Given the description of an element on the screen output the (x, y) to click on. 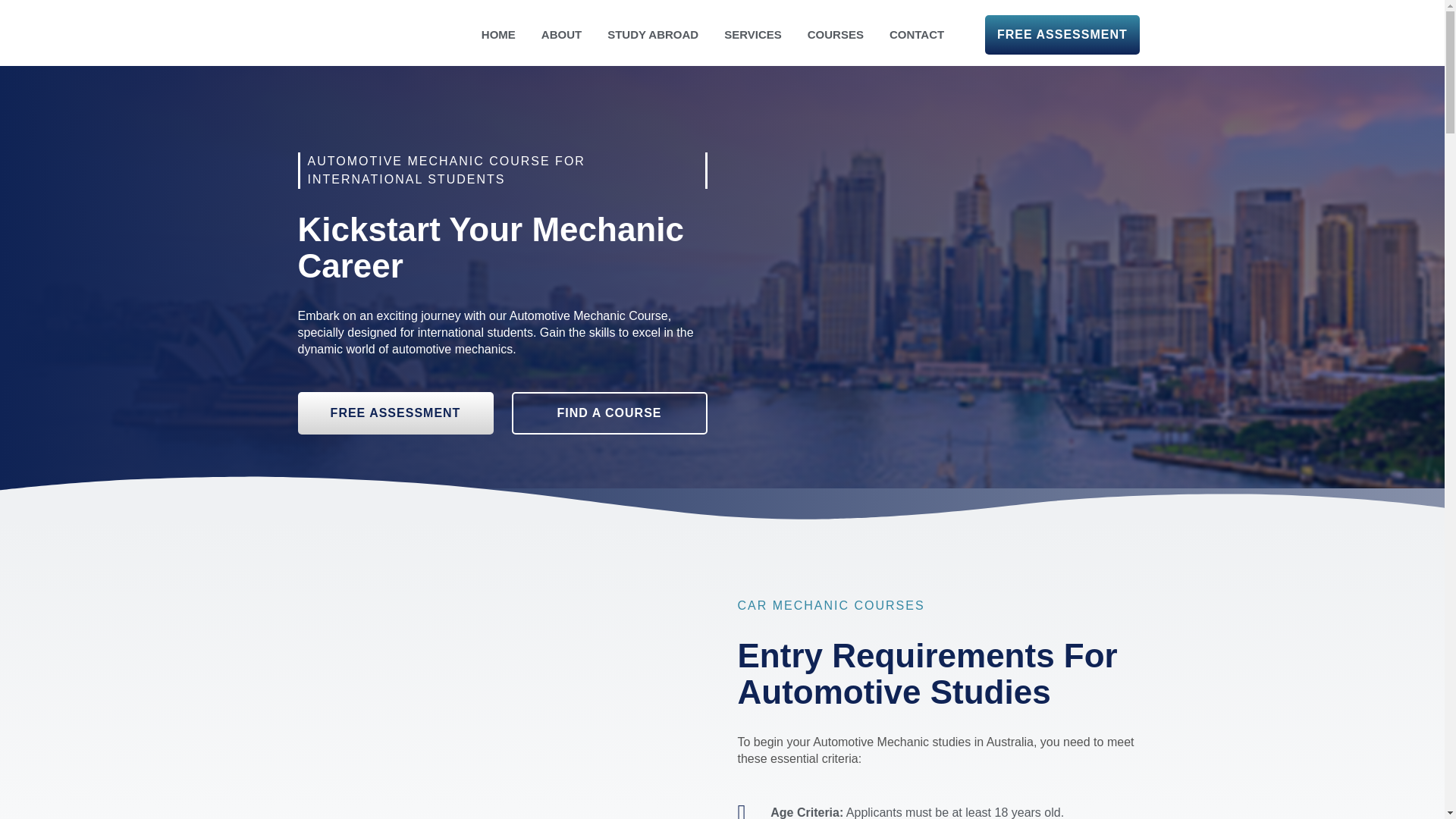
SERVICES (752, 34)
ABOUT (561, 34)
COURSES (835, 34)
HOME (498, 34)
STUDY ABROAD (652, 34)
